Given the description of an element on the screen output the (x, y) to click on. 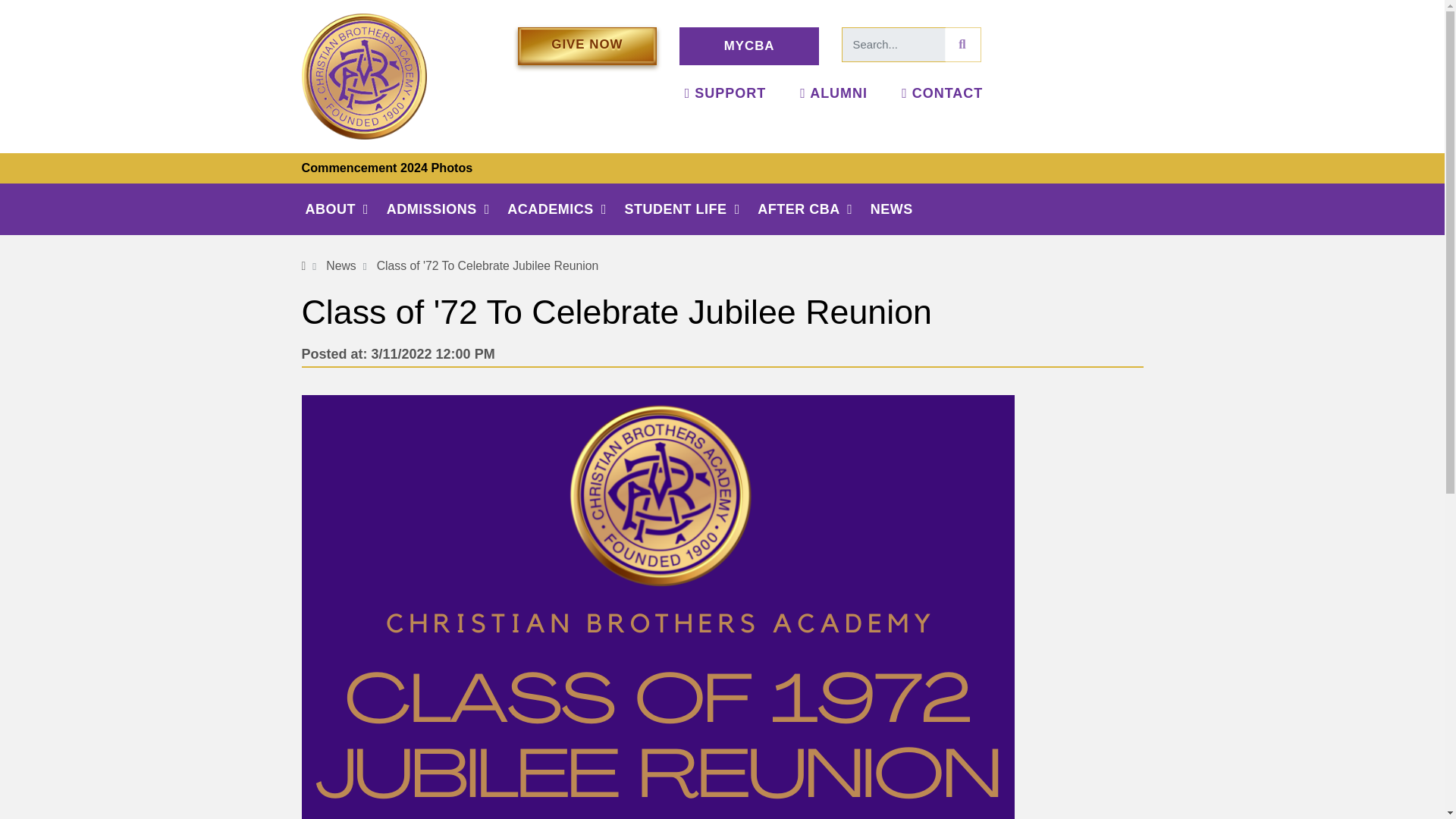
CONTACT (941, 92)
Alumni (833, 92)
Commencement 2024 Photos (387, 167)
ACADEMICS (565, 209)
GIVE NOW (586, 46)
ALUMNI (833, 92)
Support CBA (725, 92)
ABOUT (344, 209)
SUPPORT (725, 92)
Contacts (941, 92)
ADMISSIONS (447, 209)
MYCBA (748, 46)
